Given the description of an element on the screen output the (x, y) to click on. 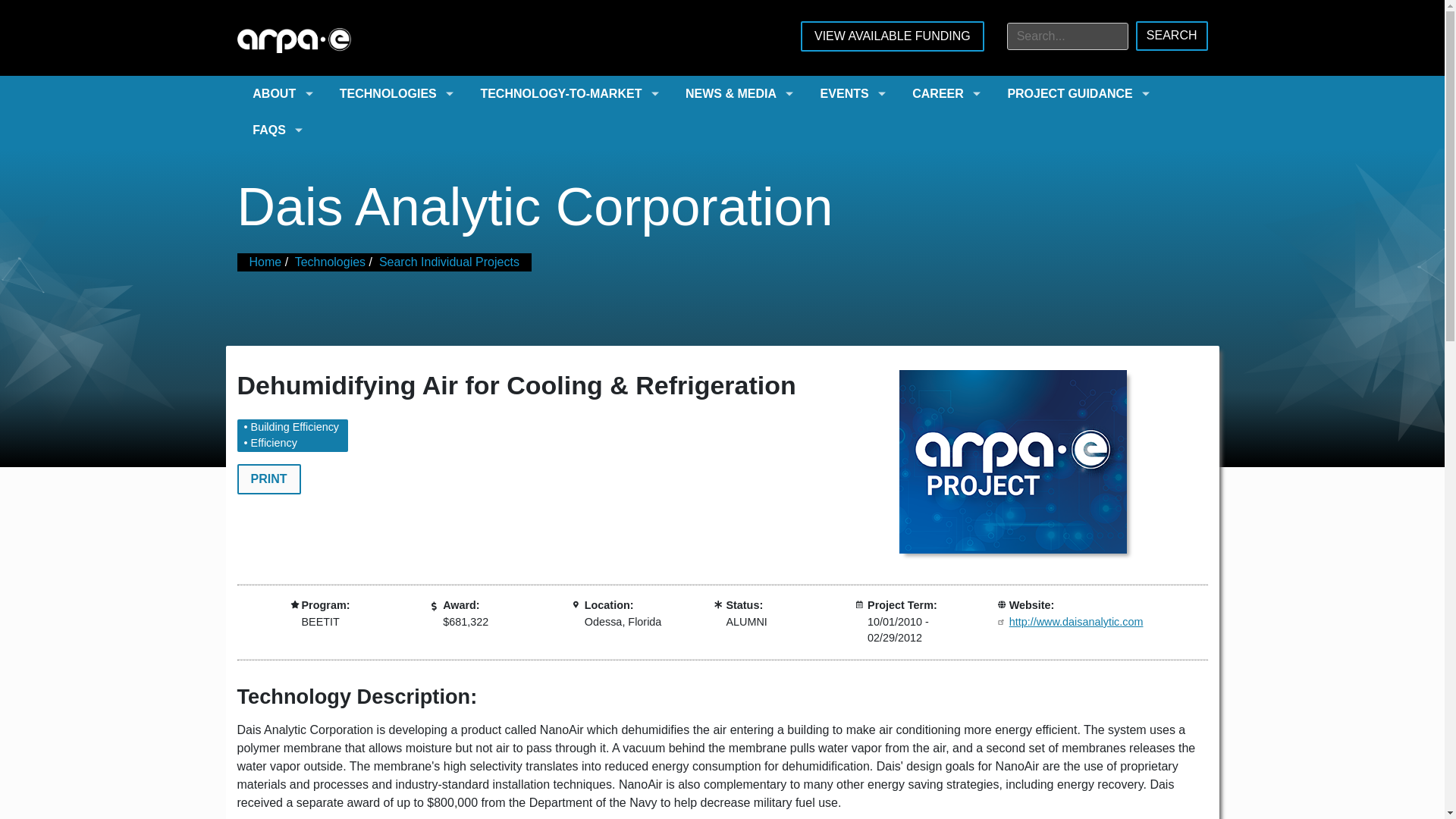
VIEW AVAILABLE FUNDING (892, 36)
Search (1171, 35)
Search (1171, 35)
Print (267, 479)
